Given the description of an element on the screen output the (x, y) to click on. 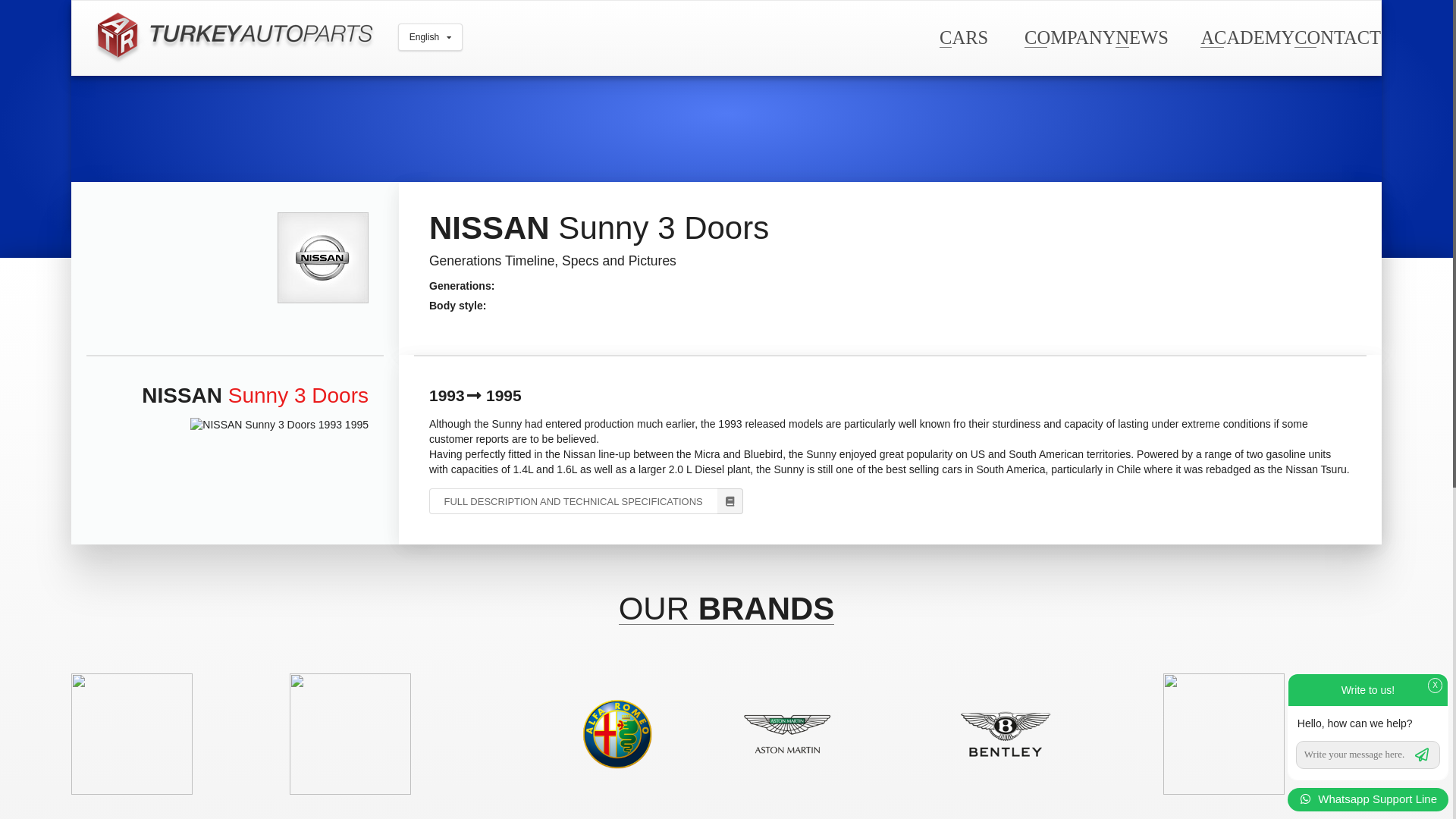
NEWS (1141, 37)
CONTACT (1337, 37)
CARS (963, 37)
COMPANY (1070, 37)
ACADEMY (1246, 37)
FULL DESCRIPTION AND TECHNICAL SPECIFICATIONS (585, 500)
